Given the description of an element on the screen output the (x, y) to click on. 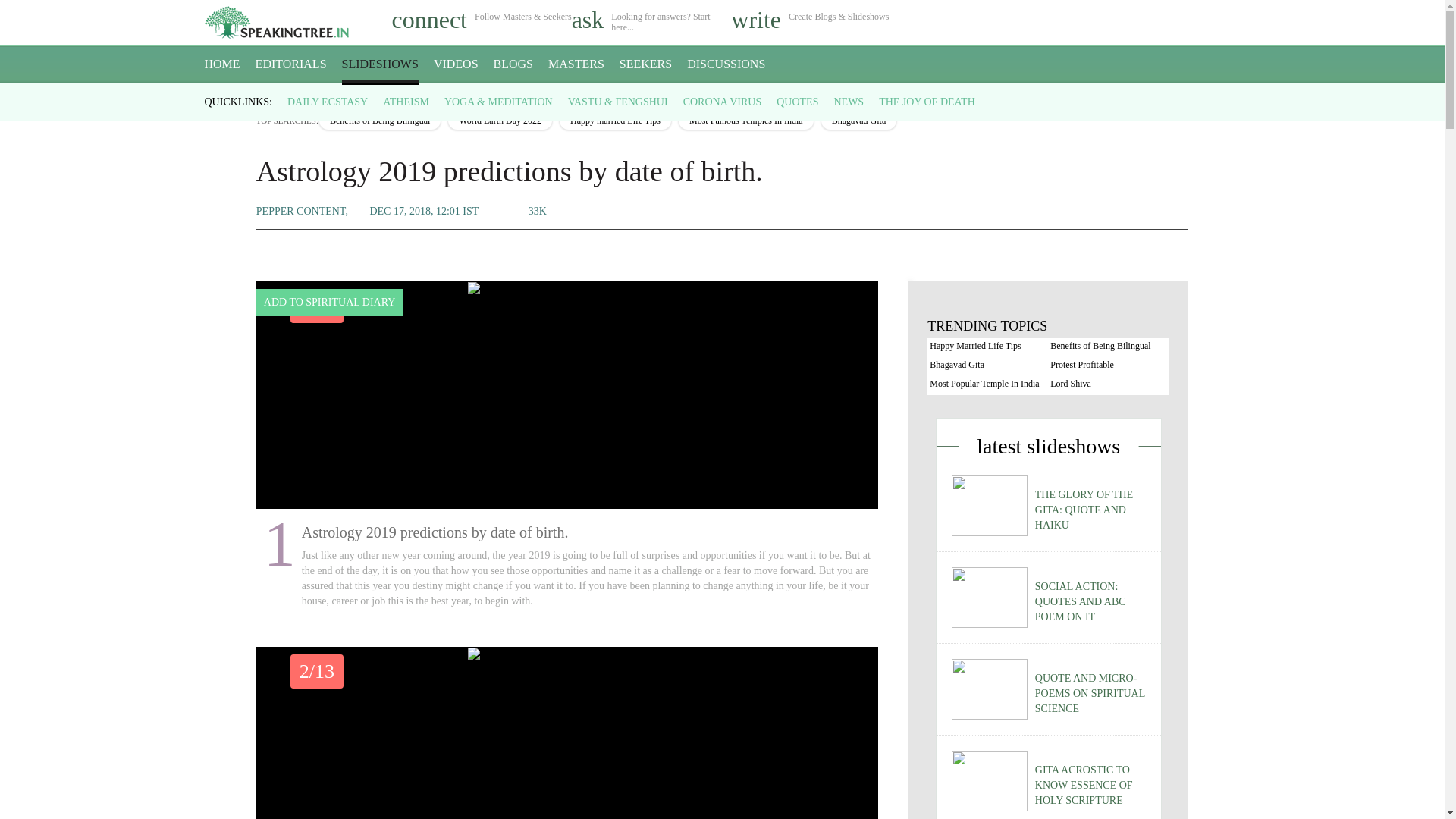
NEWS (847, 101)
VIDEOS (456, 64)
CORONA VIRUS (721, 101)
ATHEISM (405, 101)
THE JOY OF DEATH (927, 101)
HOME (222, 64)
BLOGS (512, 64)
Astrology 2019 predictions by date of birth. (566, 289)
DISCUSSIONS (726, 64)
QUOTES (797, 101)
SEEKERS (645, 64)
SLIDESHOWS (380, 64)
Share on Twitter (683, 211)
MASTERS (576, 64)
DAILY ECSTASY (327, 101)
